Given the description of an element on the screen output the (x, y) to click on. 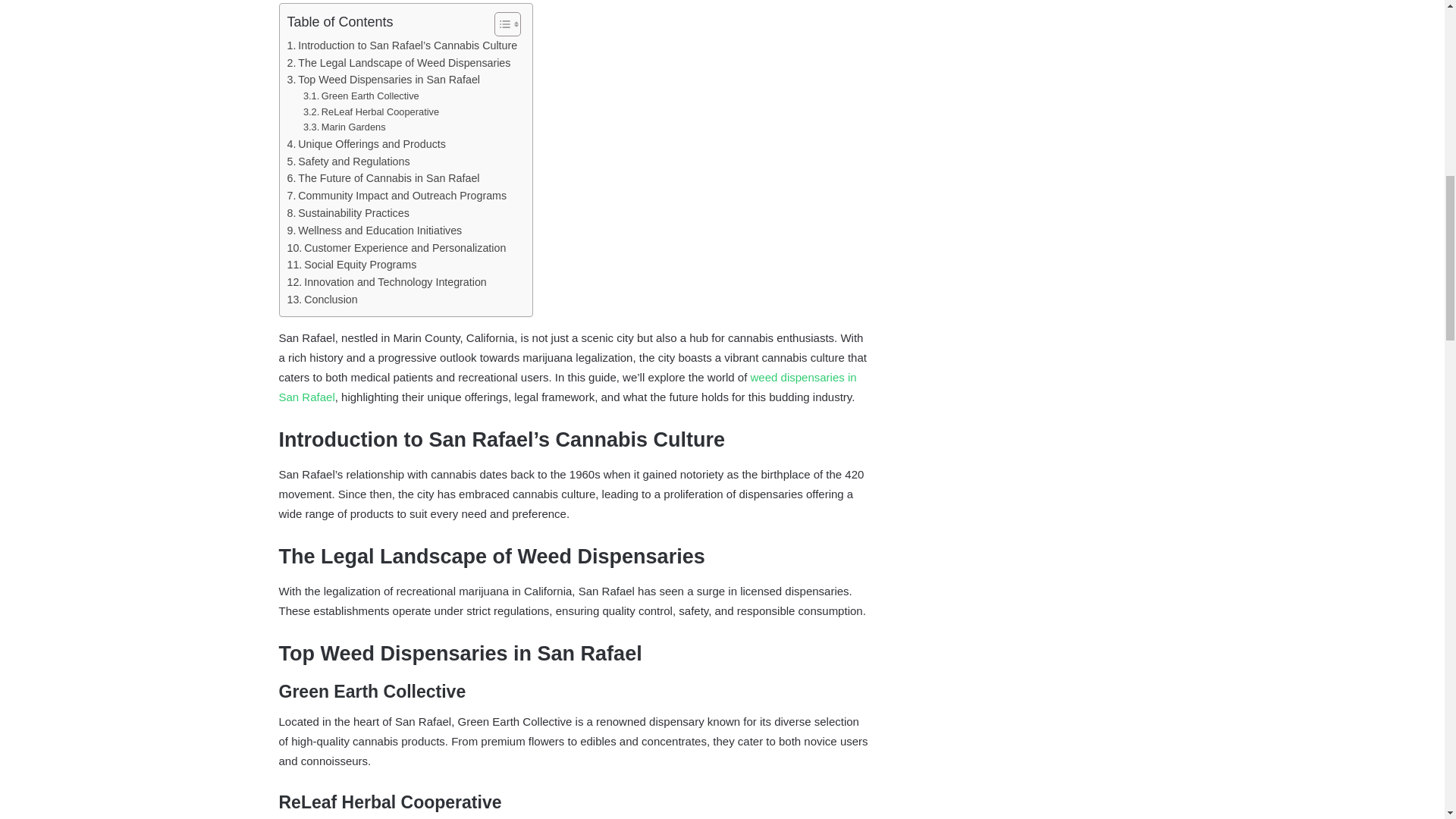
Unique Offerings and Products (365, 144)
Top Weed Dispensaries in San Rafael (383, 79)
Top Weed Dispensaries in San Rafael (383, 79)
The Legal Landscape of Weed Dispensaries (398, 63)
ReLeaf Herbal Cooperative (370, 112)
Green Earth Collective (360, 96)
Marin Gardens (343, 127)
Marin Gardens (343, 127)
The Legal Landscape of Weed Dispensaries (398, 63)
Safety and Regulations (347, 161)
The Future of Cannabis in San Rafael (382, 178)
Sustainability Practices (347, 212)
Community Impact and Outreach Programs (396, 195)
Green Earth Collective (360, 96)
ReLeaf Herbal Cooperative (370, 112)
